Given the description of an element on the screen output the (x, y) to click on. 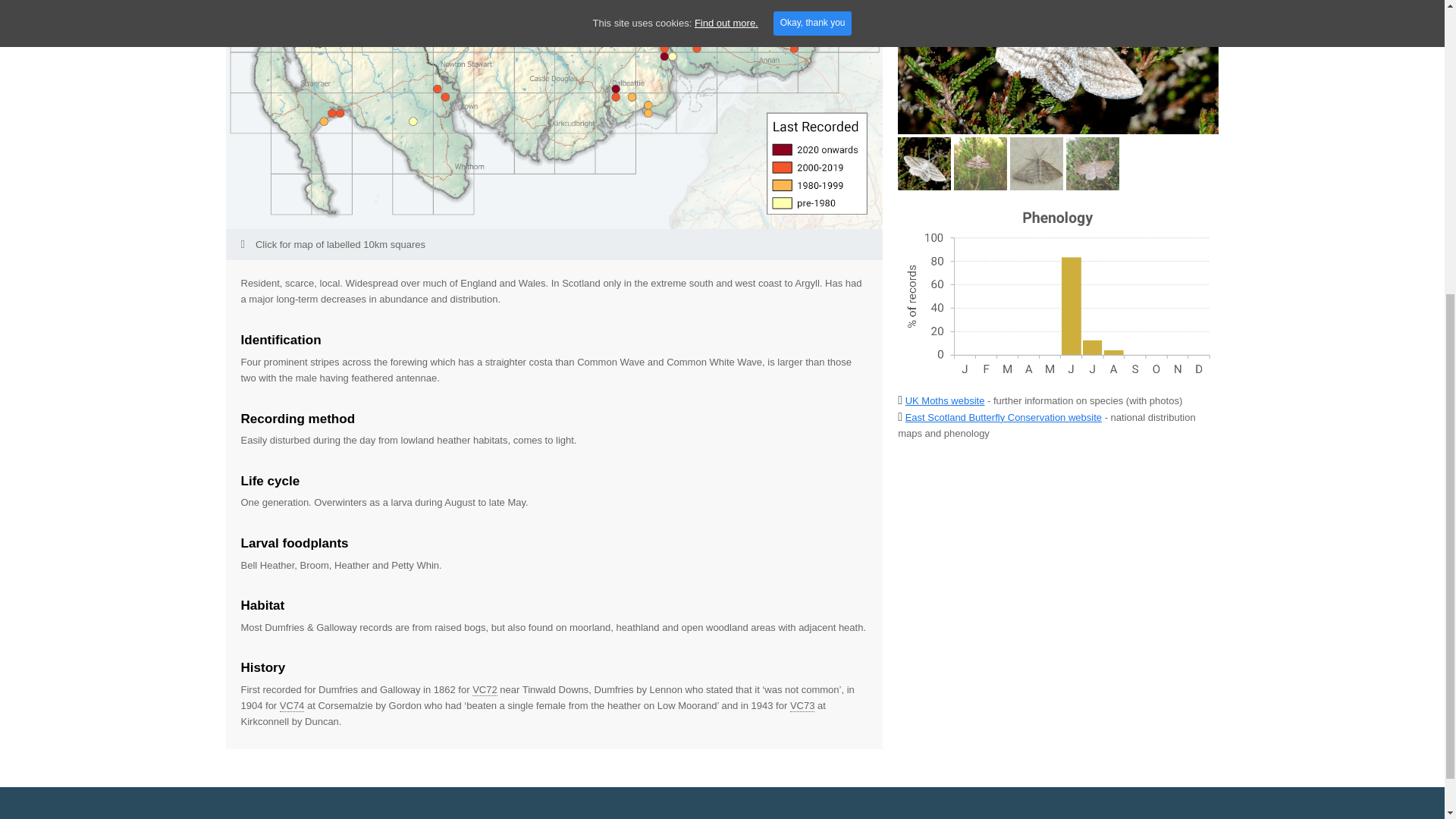
Click for map of labelled 10km squares (554, 244)
